Given the description of an element on the screen output the (x, y) to click on. 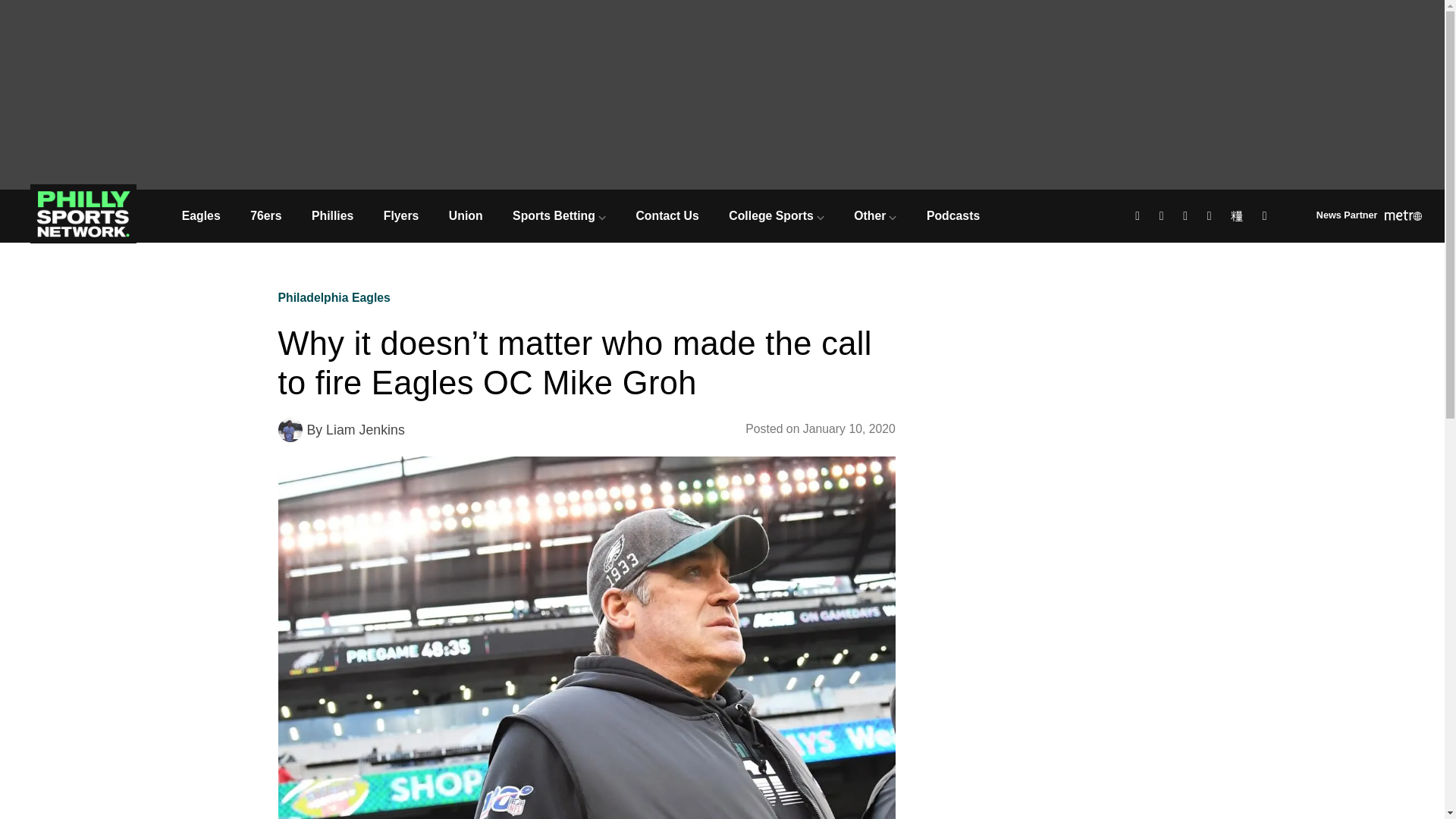
76ers (265, 215)
Contact Us (667, 215)
Other (876, 215)
Phillies (332, 215)
Discord (1266, 216)
Sports Betting (558, 215)
News Partner (1369, 216)
Podcasts (952, 215)
Instagram (1187, 216)
Eagles (200, 215)
College Sports (777, 215)
Flyers (400, 215)
Twitter (1163, 216)
Youtube (1211, 216)
Union (465, 215)
